Given the description of an element on the screen output the (x, y) to click on. 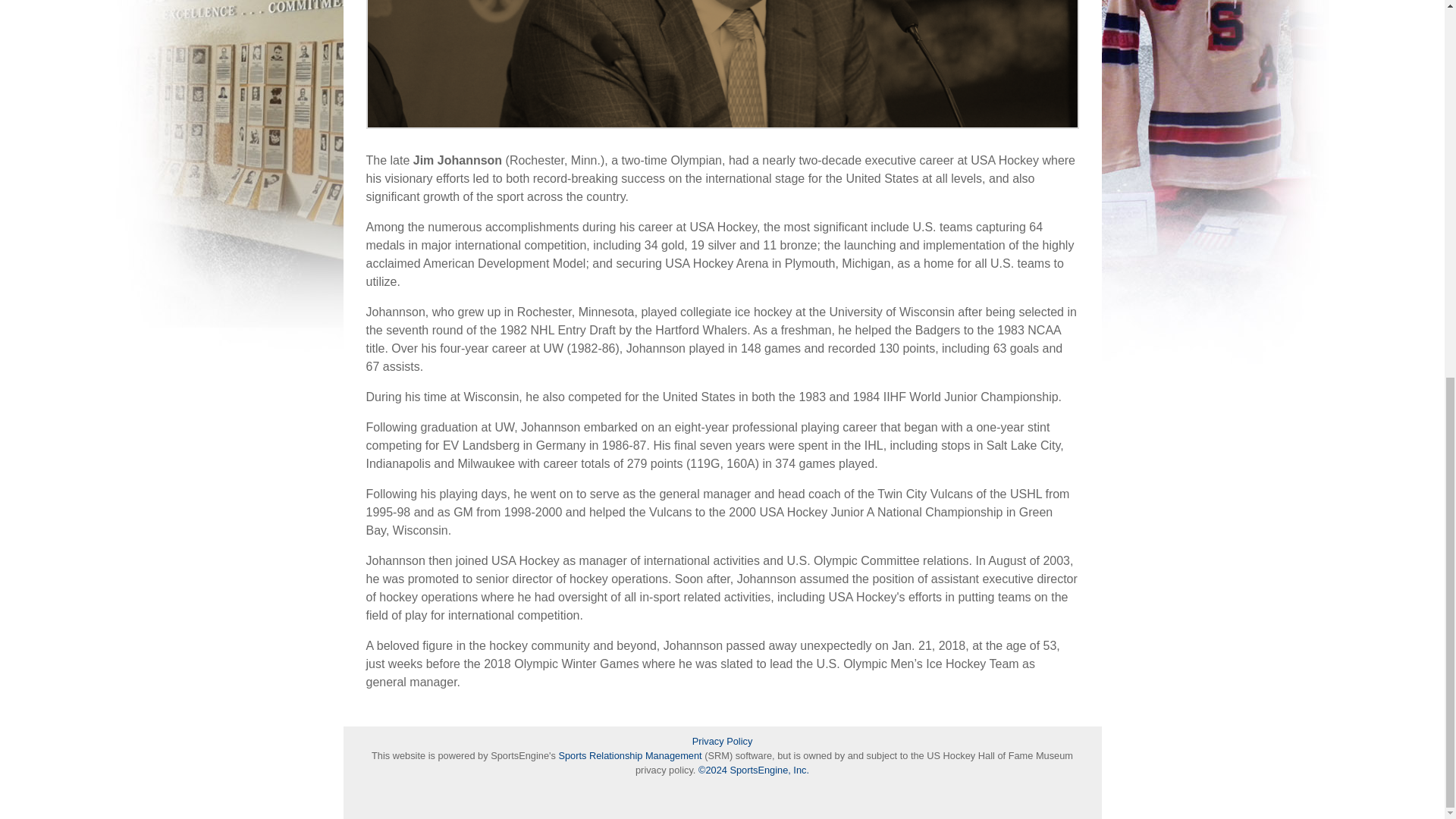
Sports Relationship Management (630, 755)
Privacy Policy (722, 740)
